Given the description of an element on the screen output the (x, y) to click on. 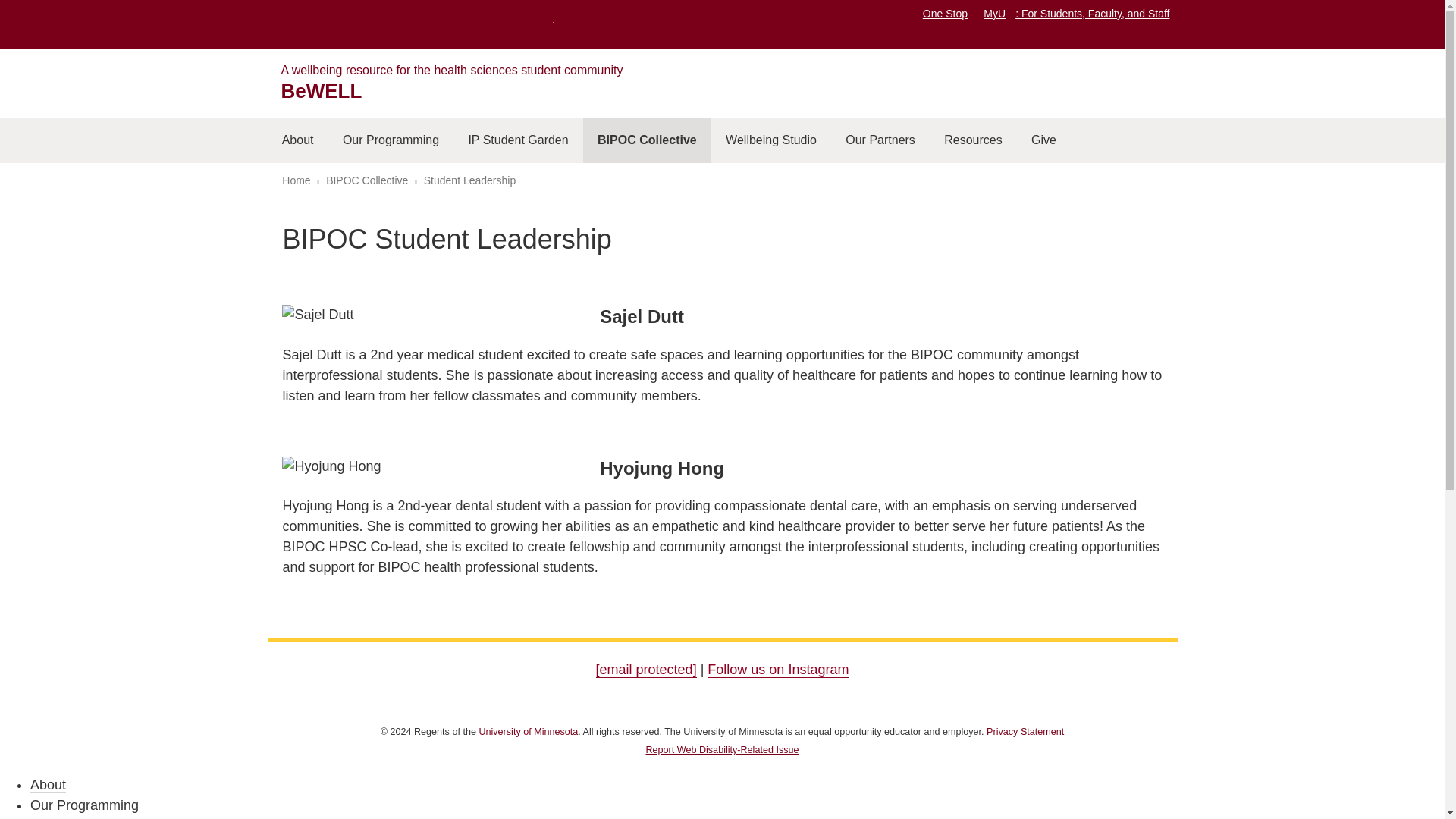
BIPOC Collective (366, 180)
MyU: For Students, Faculty, and Staff (1076, 13)
Wellbeing Studio (771, 139)
Home (296, 180)
One Stop (945, 13)
About (296, 139)
BIPOC Collective (647, 139)
Give (1043, 139)
IP Student Garden (517, 139)
